Given the description of an element on the screen output the (x, y) to click on. 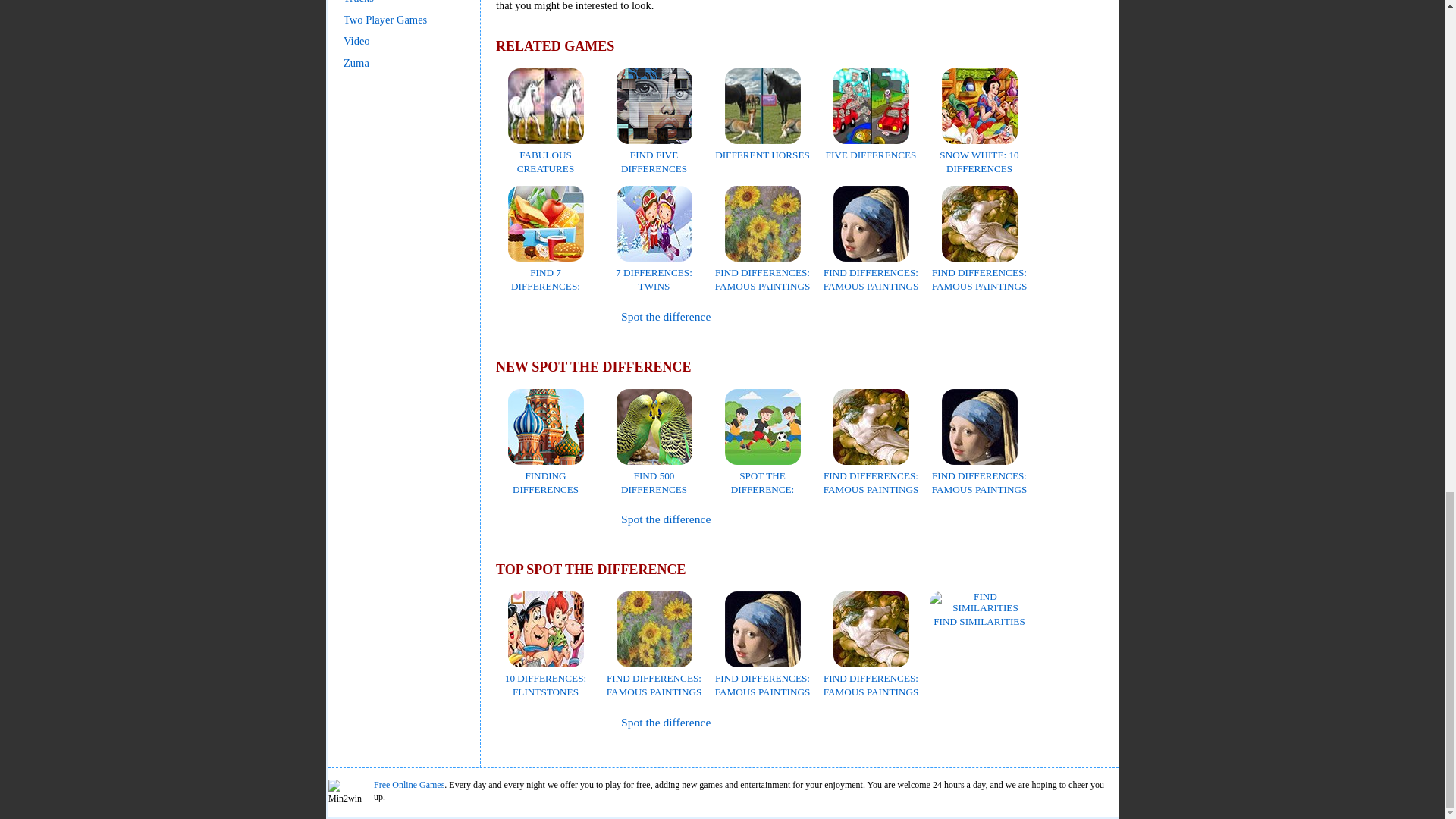
TOP games (538, 722)
FIND DIFFERENCES: FAMOUS PAINTINGS 1 (762, 279)
SPOT THE DIFFERENCE: SOCCER 2018 (762, 482)
FINDING DIFFERENCES EVERY DAY (545, 482)
New games (539, 519)
SNOW WHITE: 10 DIFFERENCES (978, 154)
FIVE DIFFERENCES (871, 147)
FIND FIVE DIFFERENCES (653, 154)
FIND SIMILARITIES (979, 614)
SPOT THE DIFFERENCE: SOCCER 2018 (762, 482)
All Spot the difference (665, 316)
FIND DIFFERENCES: FAMOUS PAINTINGS 1 (654, 685)
FIND 7 DIFFERENCES: MISCELLANEOUS (545, 279)
FABULOUS CREATURES (545, 154)
FINDING DIFFERENCES EVERY DAY (545, 482)
